Given the description of an element on the screen output the (x, y) to click on. 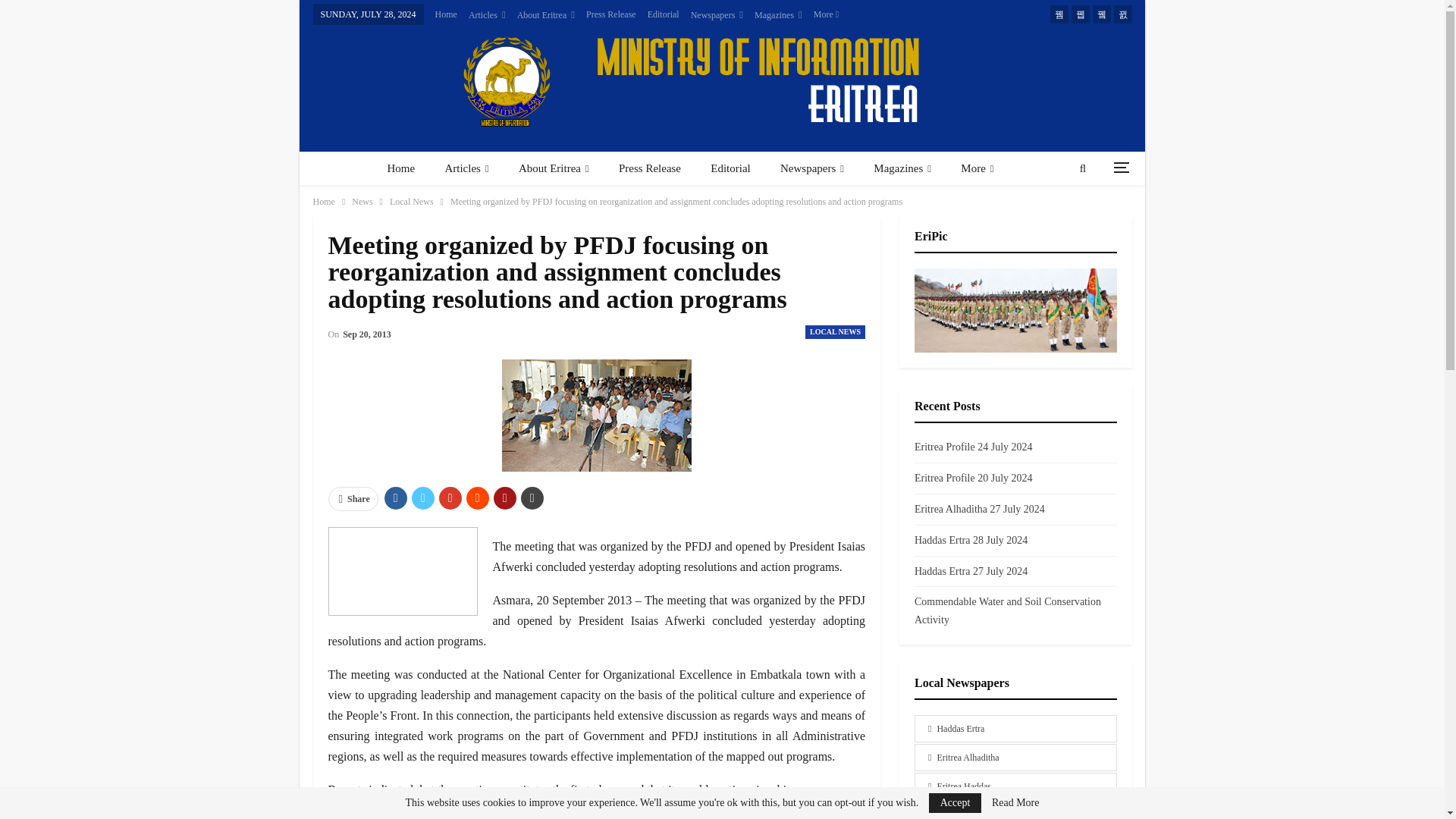
About Eritrea (545, 14)
Articles (486, 14)
Home (446, 14)
